Given the description of an element on the screen output the (x, y) to click on. 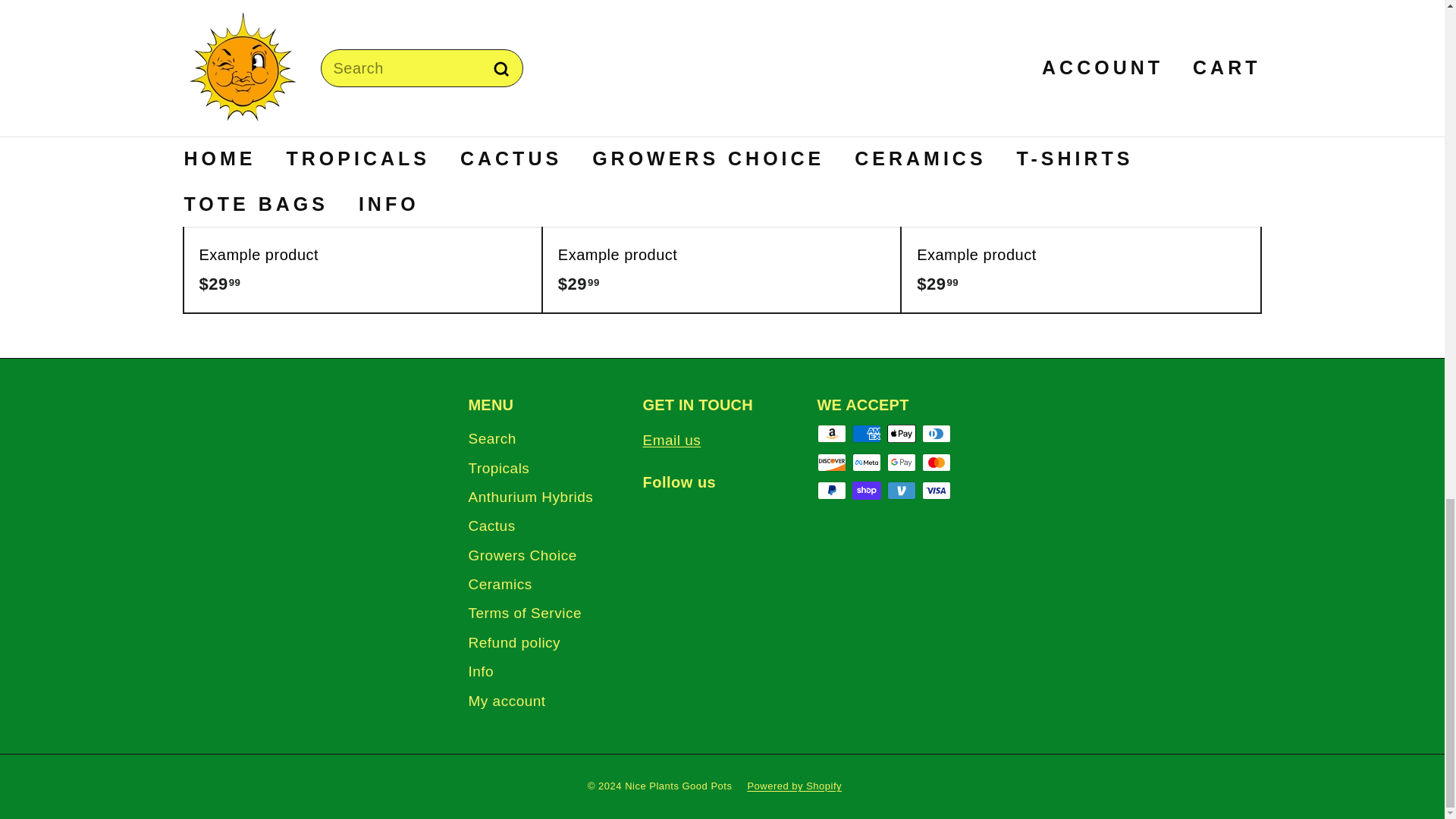
Amazon (830, 434)
Discover (830, 462)
PayPal (830, 490)
Google Pay (900, 462)
American Express (865, 434)
Apple Pay (900, 434)
Mastercard (935, 462)
Meta Pay (865, 462)
Venmo (900, 490)
Shop Pay (865, 490)
